Given the description of an element on the screen output the (x, y) to click on. 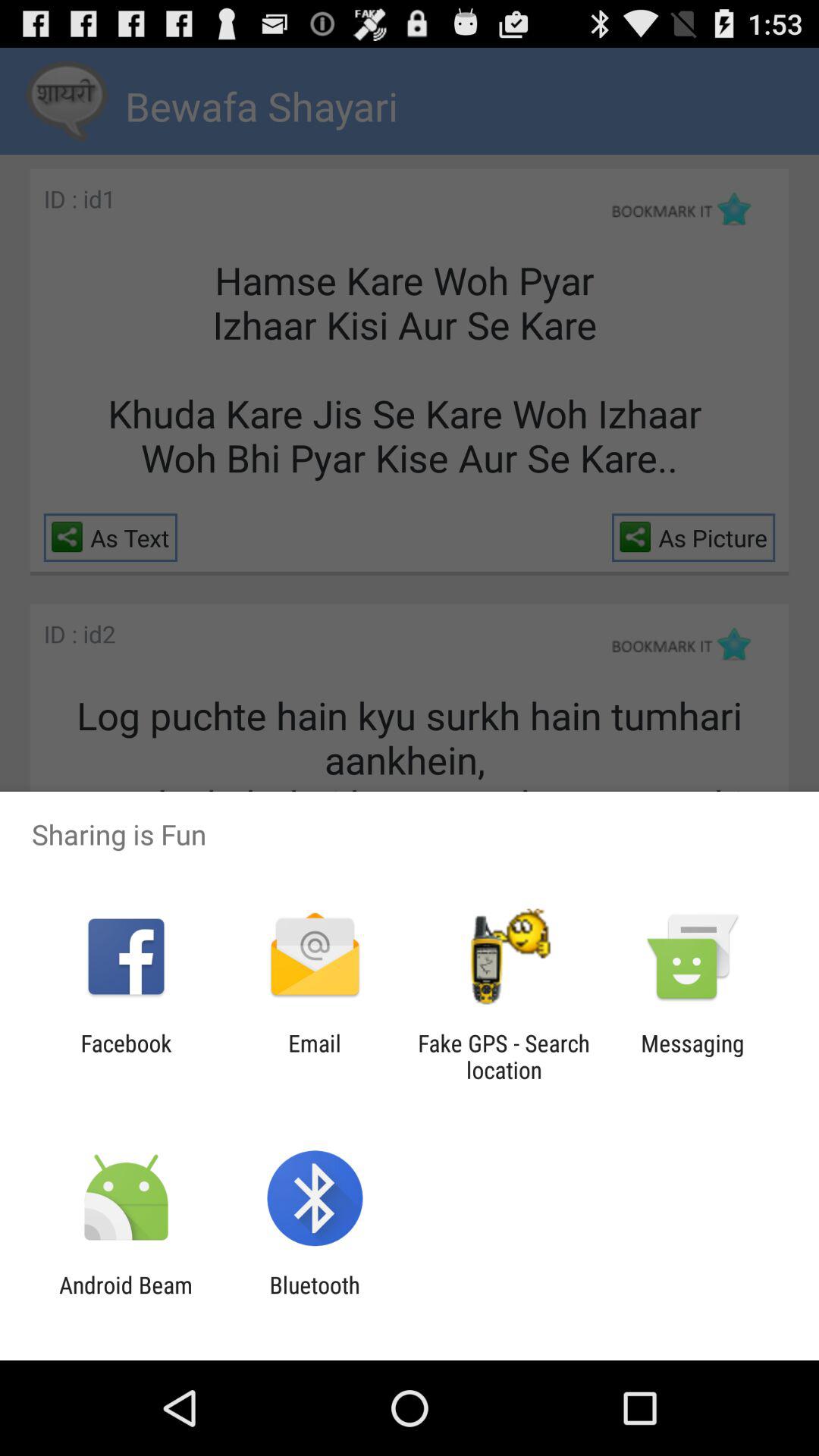
open messaging (692, 1056)
